Given the description of an element on the screen output the (x, y) to click on. 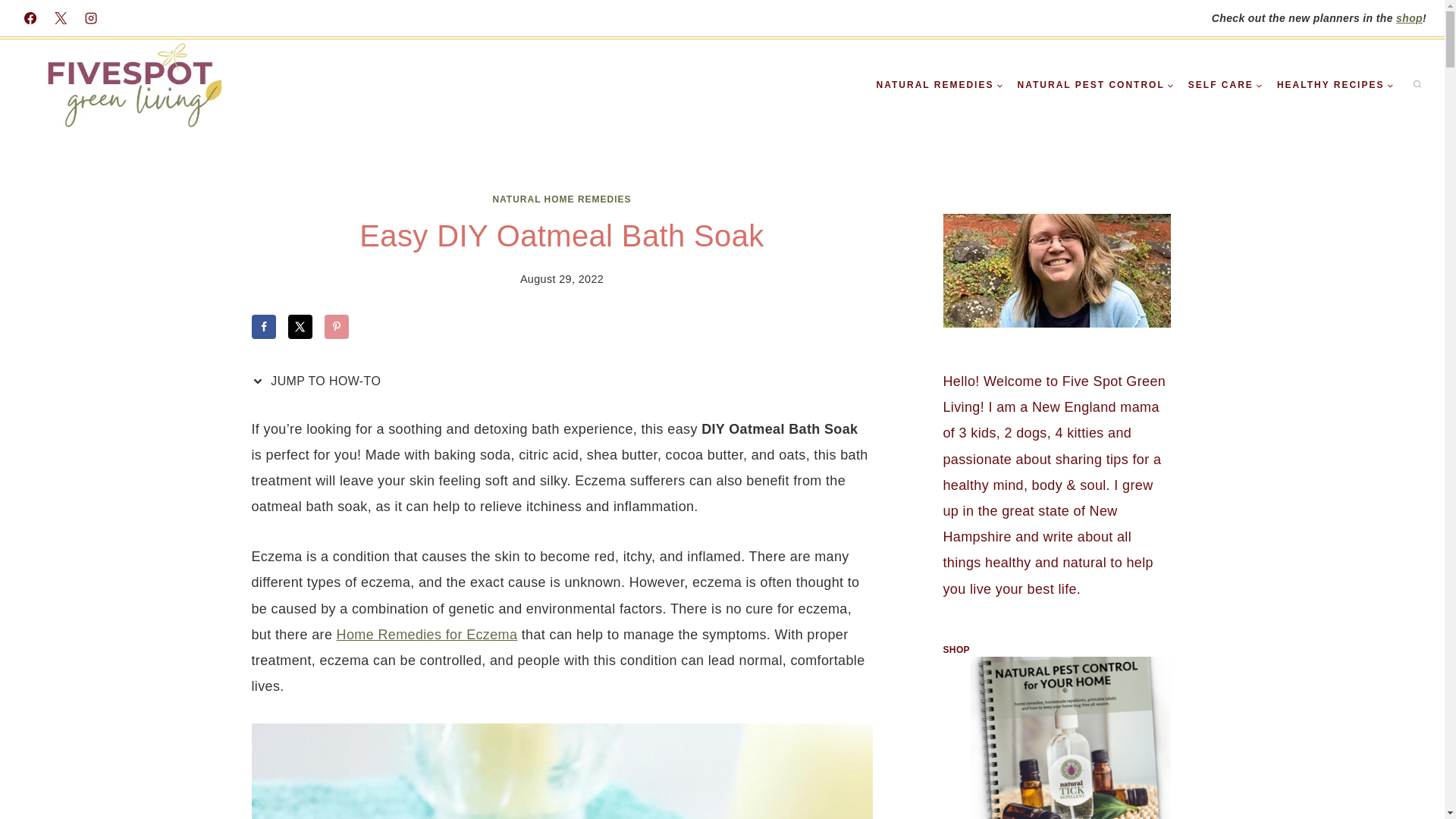
HEALTHY RECIPES (1334, 85)
NATURAL HOME REMEDIES (561, 199)
SELF CARE (1224, 85)
Home Remedies for Eczema (427, 634)
Share on Facebook (263, 326)
JUMP TO HOW-TO (319, 381)
NATURAL REMEDIES (939, 85)
Share on X (300, 326)
Save to Pinterest (336, 326)
NATURAL PEST CONTROL (1095, 85)
